Given the description of an element on the screen output the (x, y) to click on. 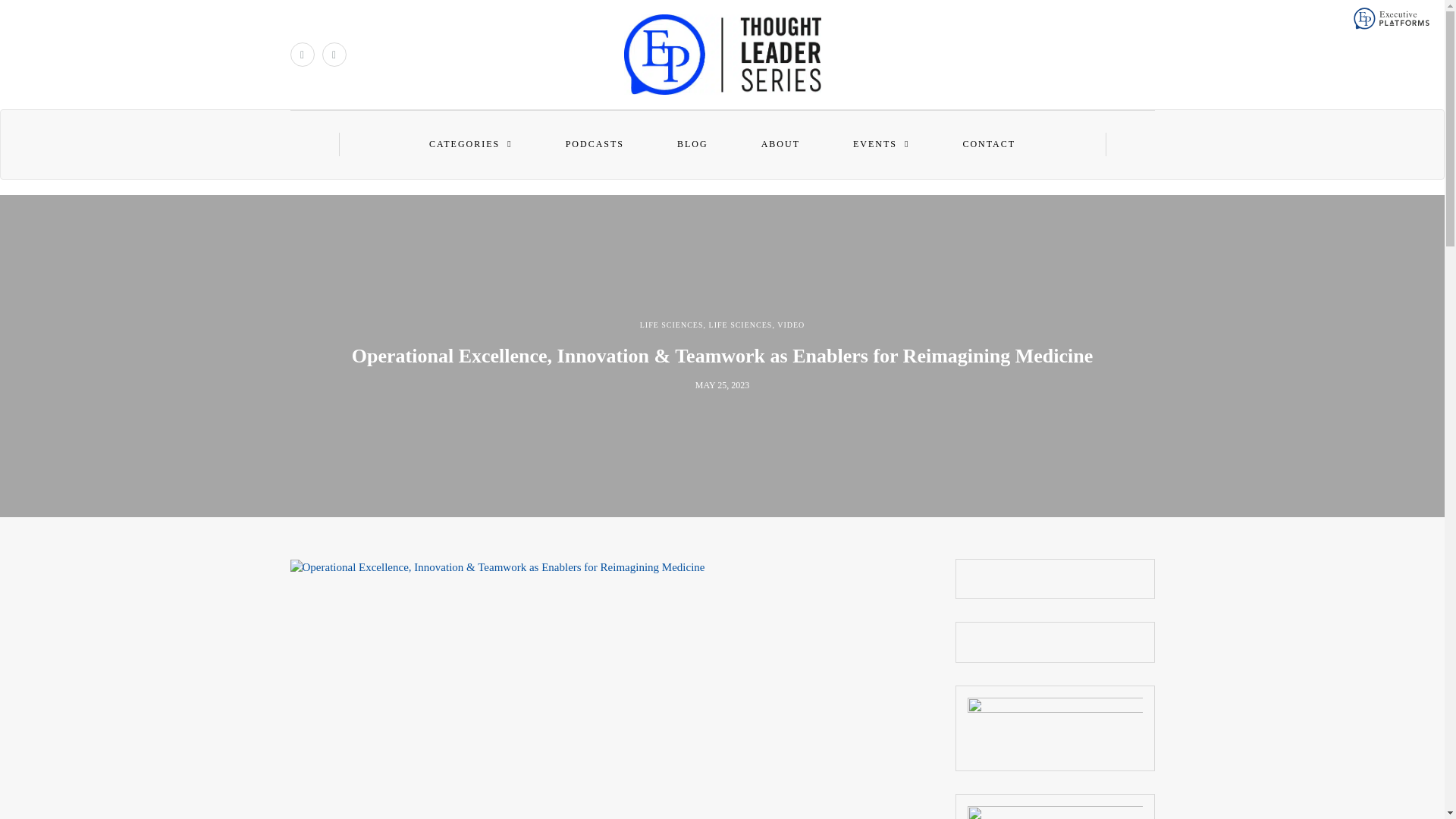
CATEGORIES (470, 144)
ABOUT (780, 144)
VIDEO (791, 325)
LIFE SCIENCES (671, 325)
LIFE SCIENCES (741, 325)
CONTACT (988, 144)
BLOG (691, 144)
EVENTS (880, 144)
PODCASTS (594, 144)
